Given the description of an element on the screen output the (x, y) to click on. 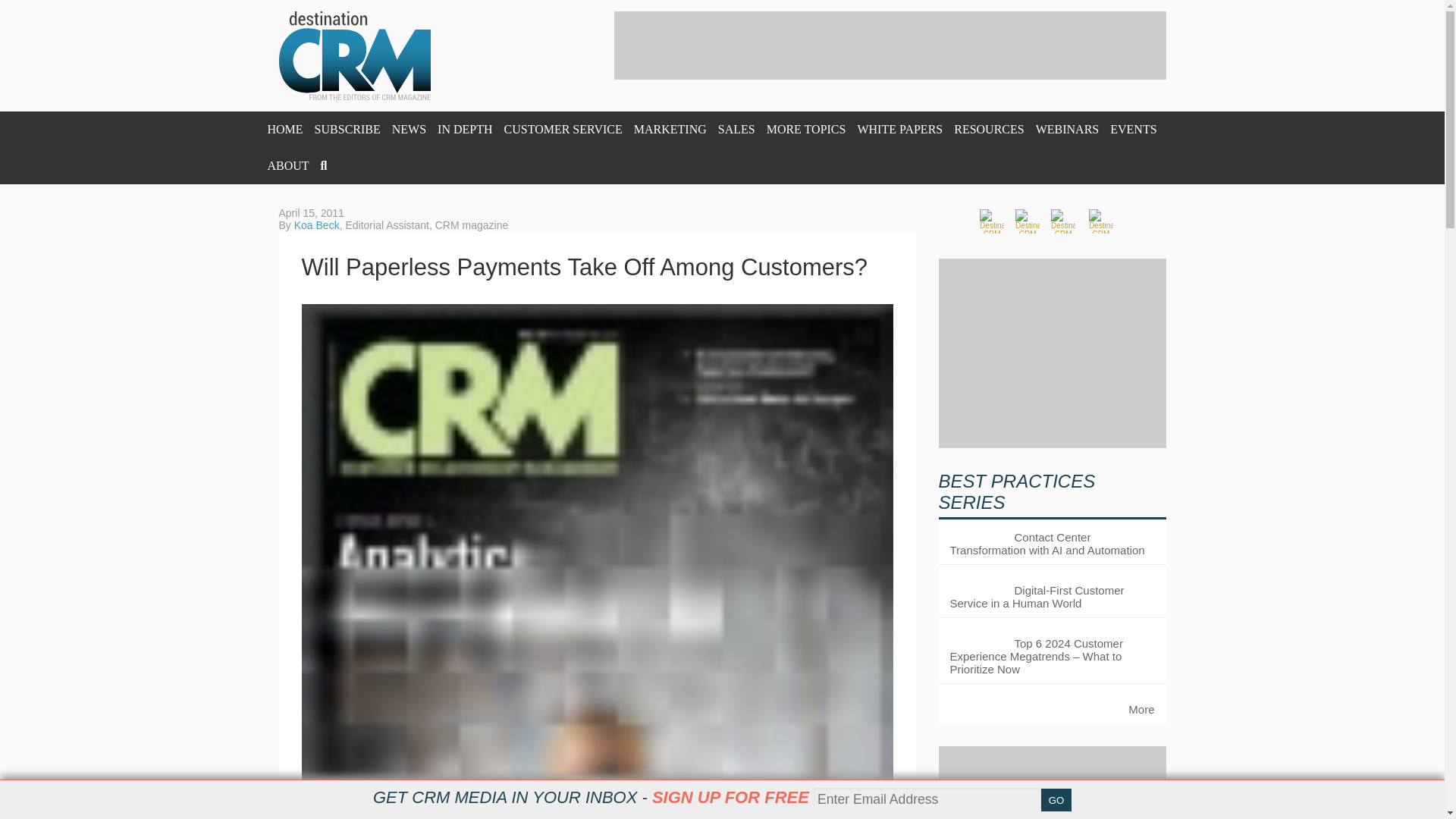
Marketing (669, 129)
CUSTOMER SERVICE (563, 129)
GET CRM MEDIA IN YOUR INBOX - SIGN UP FOR FREE (590, 797)
Sales (736, 129)
Customer Service (563, 129)
SALES (736, 129)
GO (1056, 799)
SUBSCRIBE (347, 129)
MARKETING (669, 129)
IN DEPTH (465, 129)
RESOURCES (988, 129)
NEWS (408, 129)
HOME (284, 129)
WHITE PAPERS (899, 129)
MORE TOPICS (806, 129)
